Given the description of an element on the screen output the (x, y) to click on. 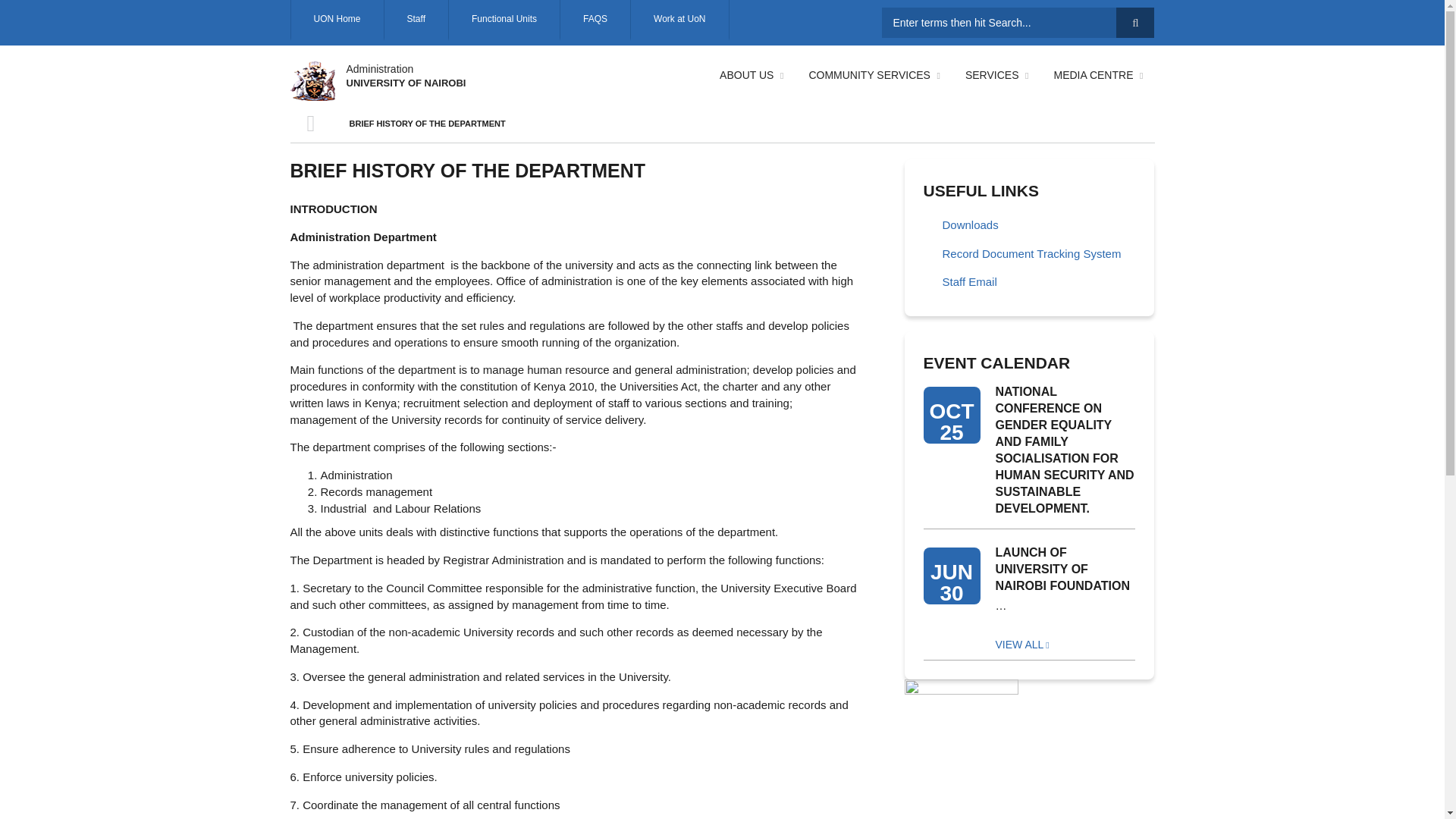
Functional Units (503, 20)
FAQS (594, 20)
Search (1135, 22)
Administration (379, 69)
Record Document Tracking System (1029, 254)
HOME (310, 123)
MEDIA CENTRE (1096, 75)
SERVICES (995, 75)
Enter the terms you wish to search for. (1017, 22)
Media Gallery (1096, 75)
Search (1135, 22)
Staff (416, 20)
UON Home (335, 20)
